Given the description of an element on the screen output the (x, y) to click on. 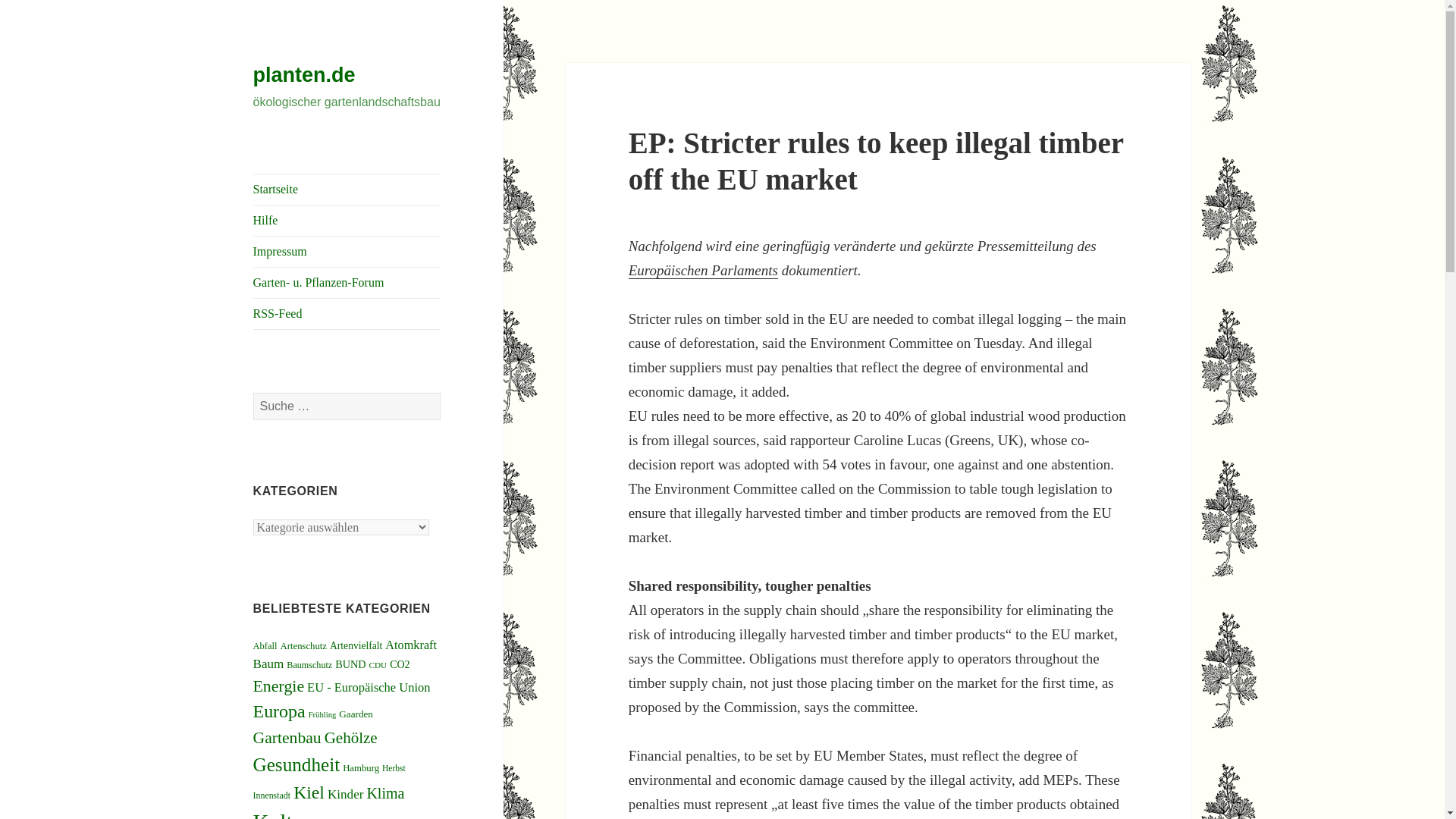
CO2 (399, 664)
Startseite (347, 189)
Kiel (309, 792)
BUND (349, 664)
Hamburg (360, 767)
Artenschutz (304, 645)
Atomkraft (410, 644)
Baum (268, 663)
Gesundheit (296, 764)
planten.de (304, 74)
Energie (278, 686)
Herbst (393, 768)
Kinder (344, 794)
